Given the description of an element on the screen output the (x, y) to click on. 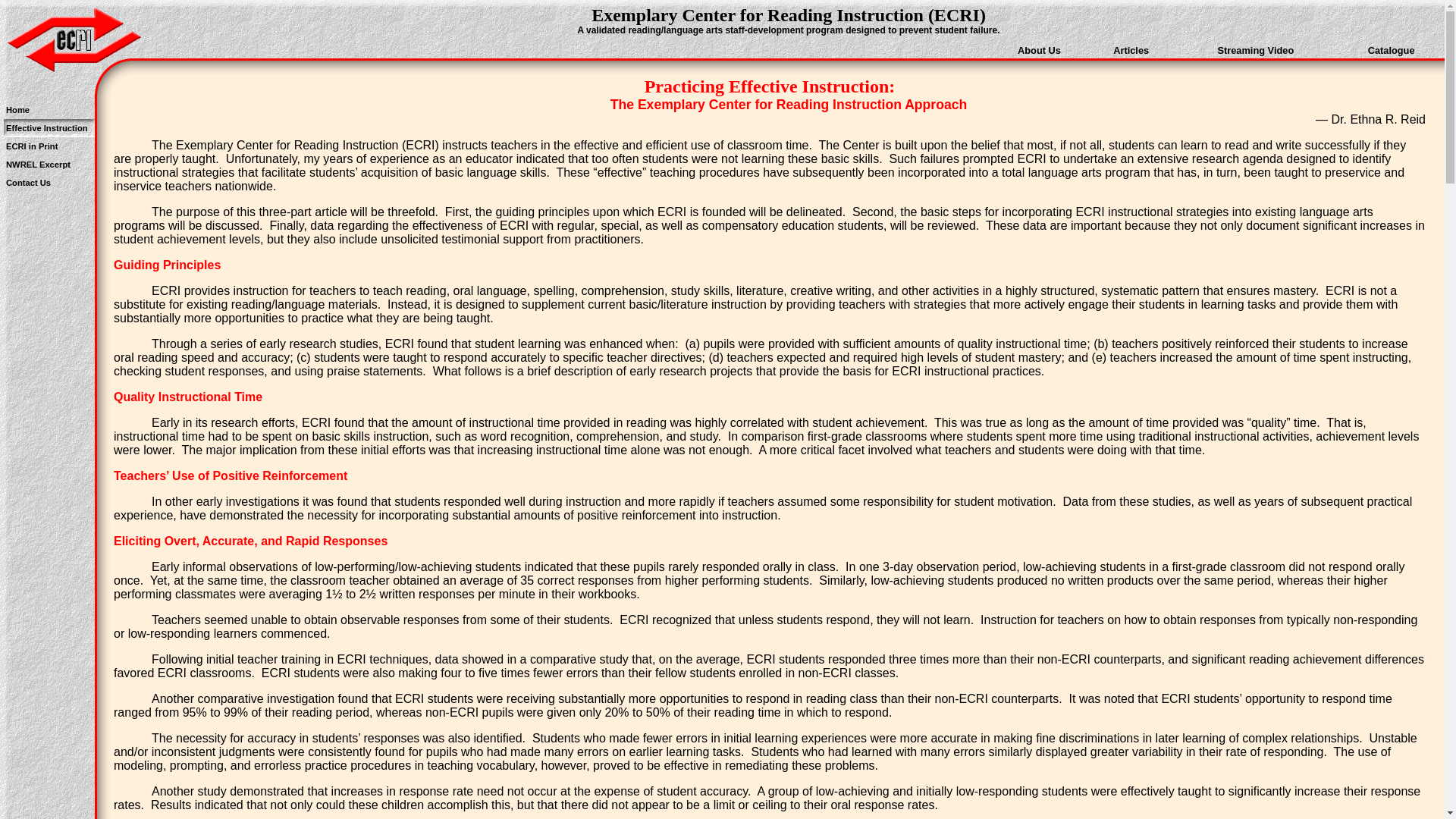
Contact Us Element type: text (28, 182)
NWREL Excerpt Element type: text (38, 164)
ECRI in Print Element type: text (31, 145)
Articles Element type: text (1130, 49)
Home Element type: text (17, 109)
Catalogue Element type: text (1391, 49)
About Us Element type: text (1038, 49)
Streaming Video Element type: text (1255, 49)
